Given the description of an element on the screen output the (x, y) to click on. 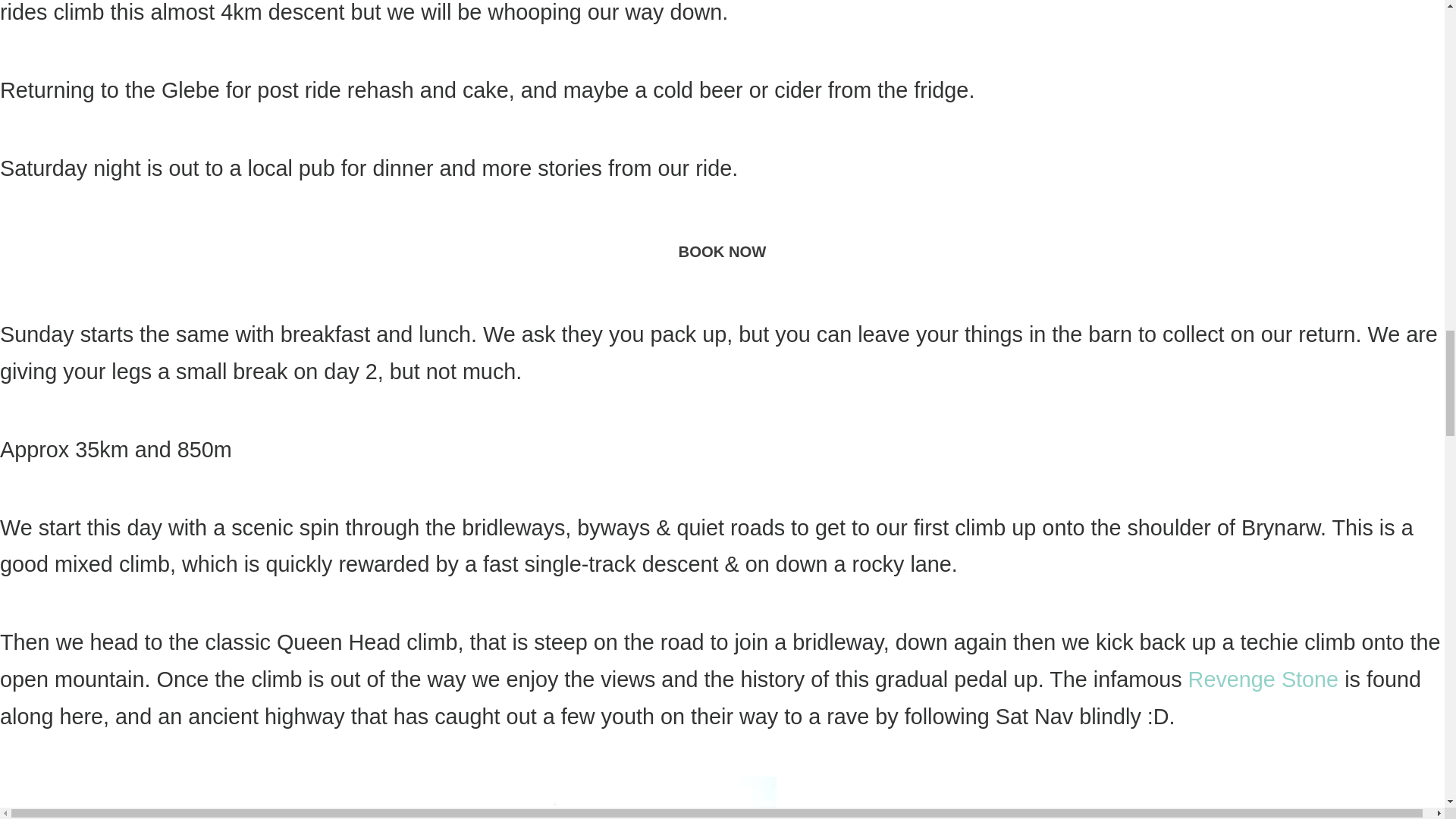
Revenge Stone (1263, 679)
BOOK NOW (722, 251)
